Given the description of an element on the screen output the (x, y) to click on. 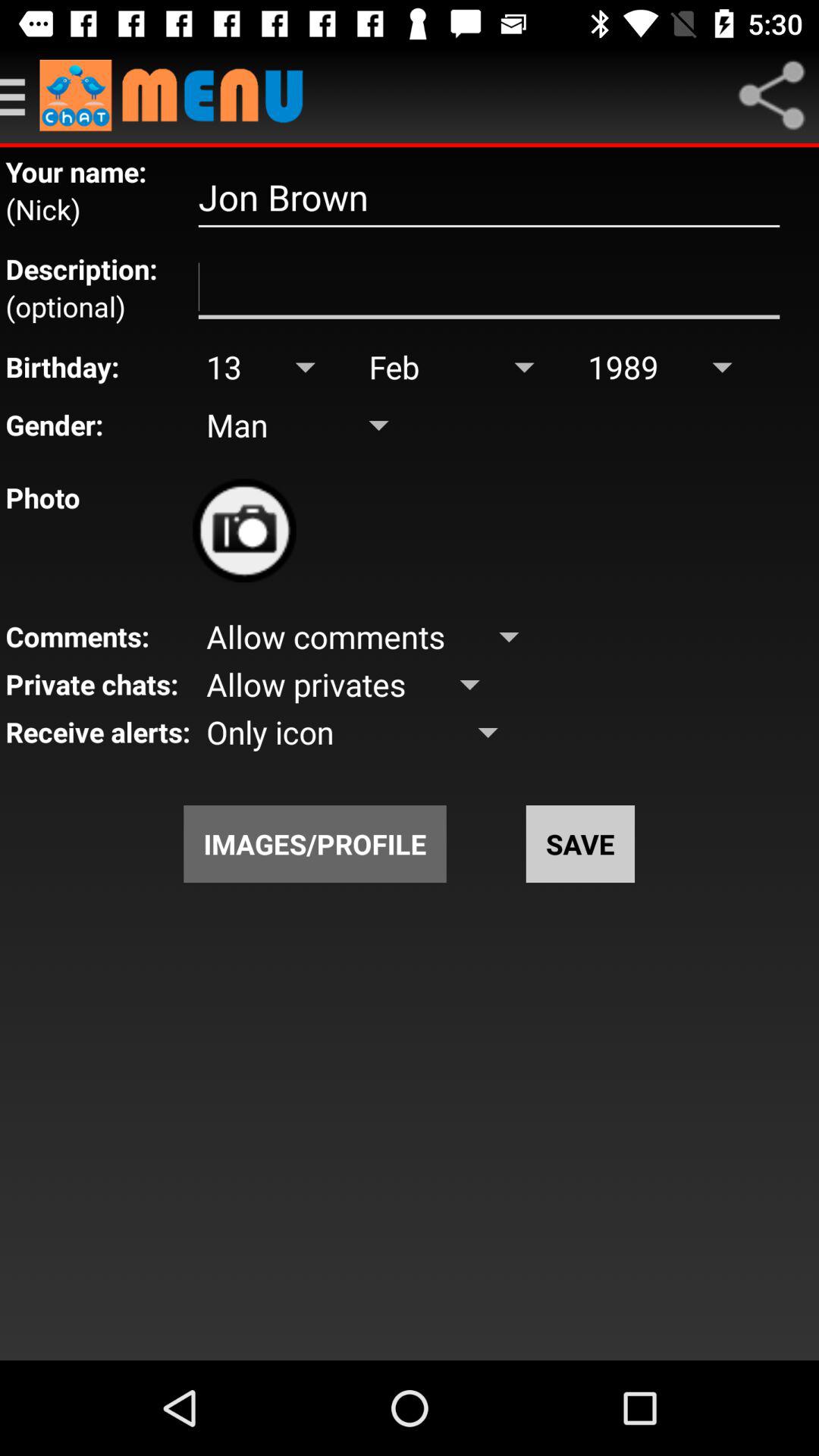
click to go to main menu (178, 95)
